Given the description of an element on the screen output the (x, y) to click on. 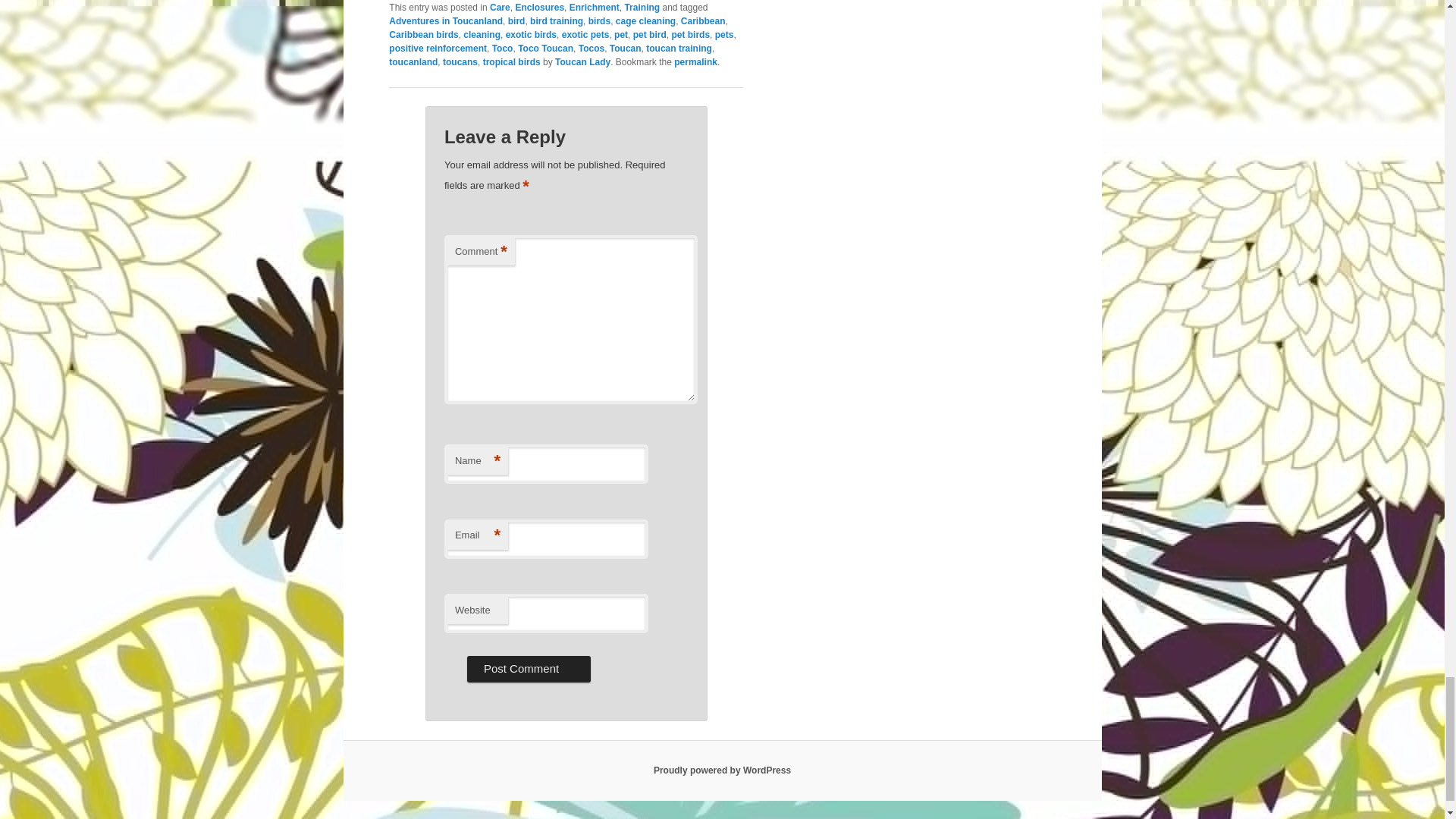
birds (599, 20)
Caribbean birds (423, 33)
bird training (556, 20)
Post Comment (529, 668)
exotic birds (530, 33)
Training (641, 6)
Care (500, 6)
cage cleaning (645, 20)
bird (516, 20)
cleaning (481, 33)
